Given the description of an element on the screen output the (x, y) to click on. 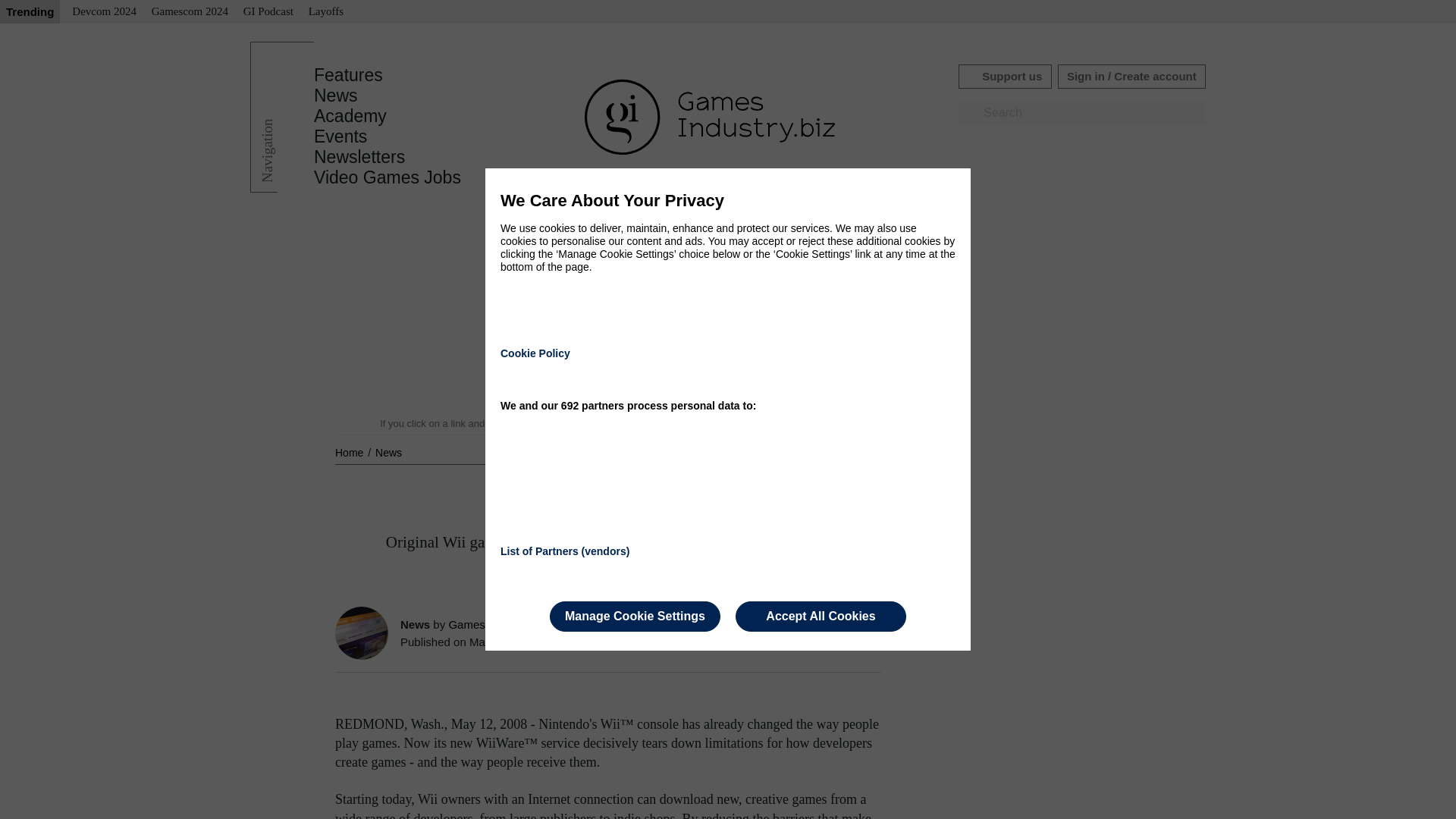
News (336, 95)
Home (350, 452)
Support us (1004, 75)
Events (340, 136)
Layoffs (325, 11)
Layoffs (325, 11)
GamesIndustry.biz (494, 624)
Home (350, 452)
News (388, 452)
Features (348, 75)
